Given the description of an element on the screen output the (x, y) to click on. 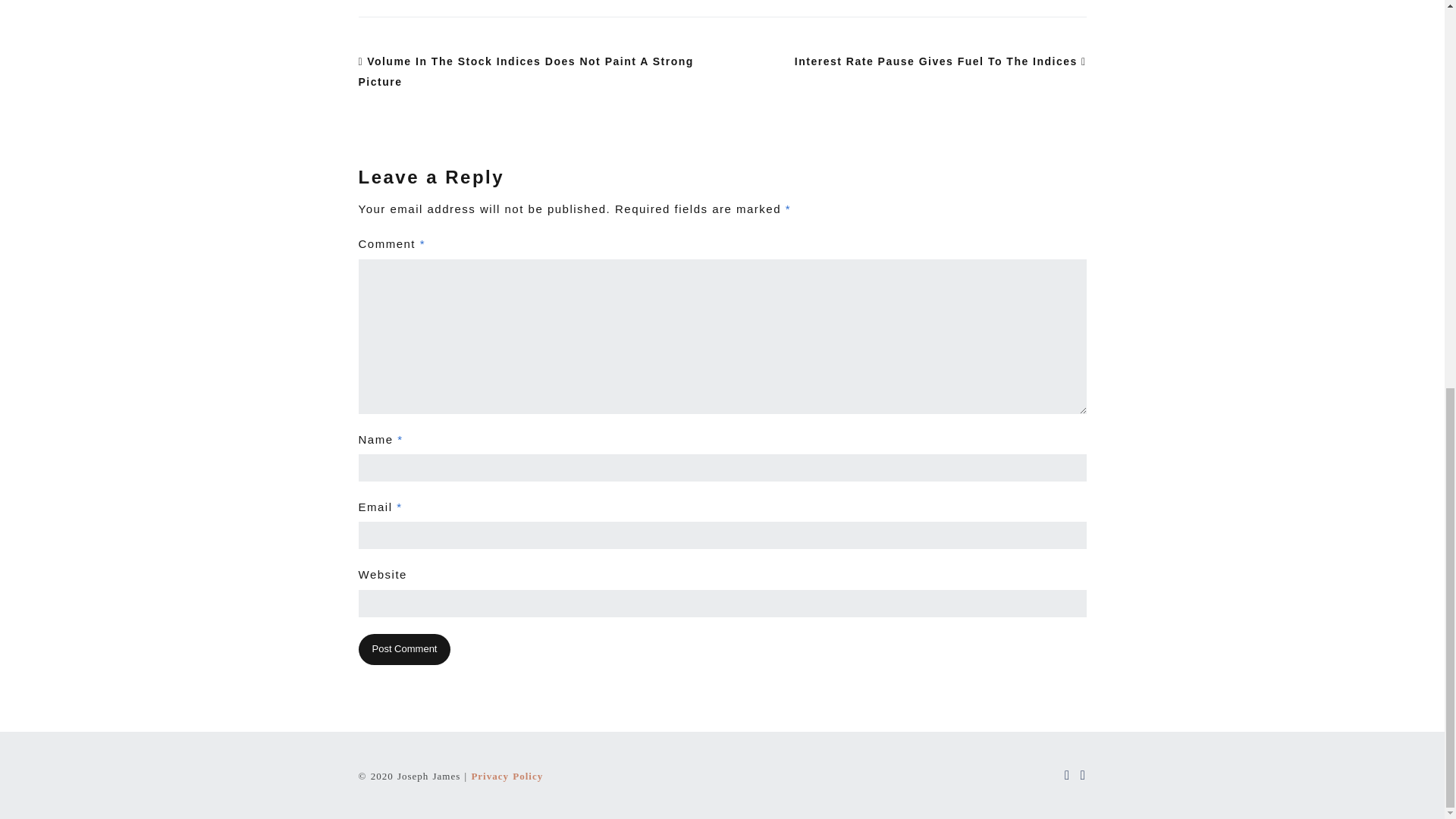
Interest Rate Pause Gives Fuel To The Indices (940, 61)
Volume In The Stock Indices Does Not Paint A Strong Picture (525, 71)
Post Comment (403, 649)
Post Comment (403, 649)
Privacy Policy (506, 776)
